Given the description of an element on the screen output the (x, y) to click on. 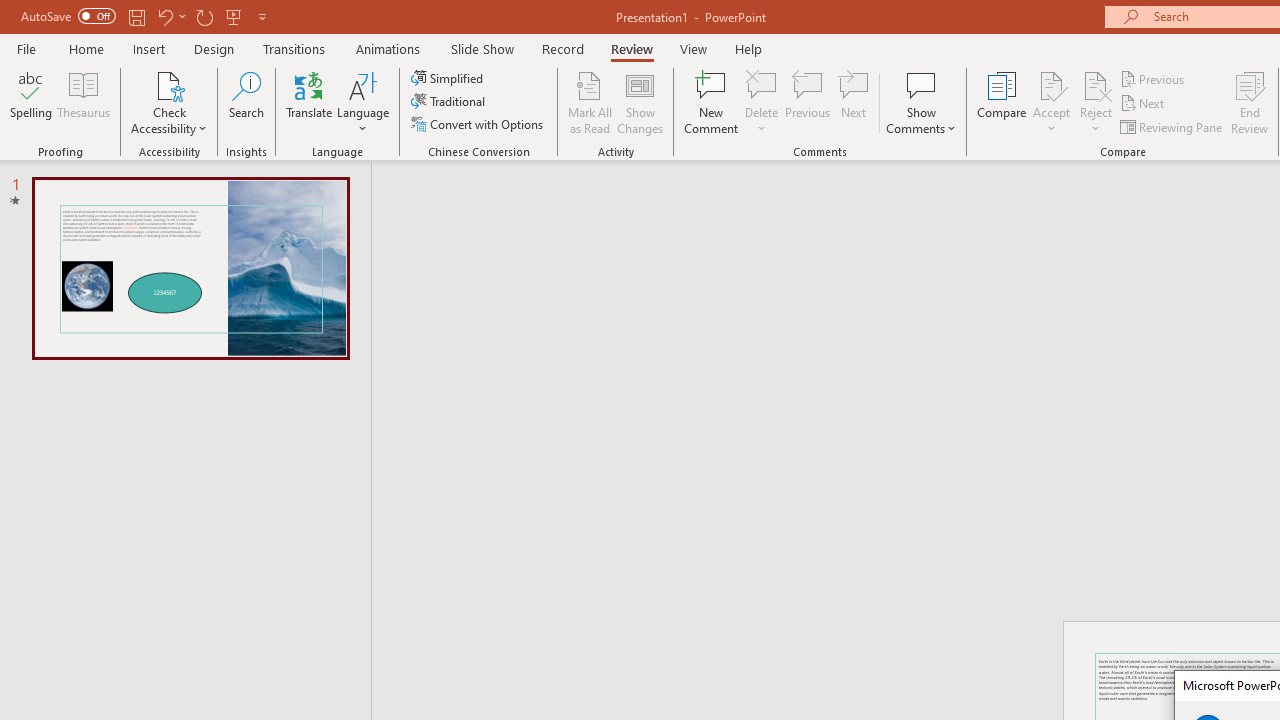
Next (1144, 103)
New Comment (711, 102)
Search (246, 102)
Delete (762, 84)
Reviewing Pane (1172, 126)
Spelling... (31, 102)
Show Comments (921, 102)
Accept Change (1051, 84)
Show Comments (921, 84)
Traditional (449, 101)
